Given the description of an element on the screen output the (x, y) to click on. 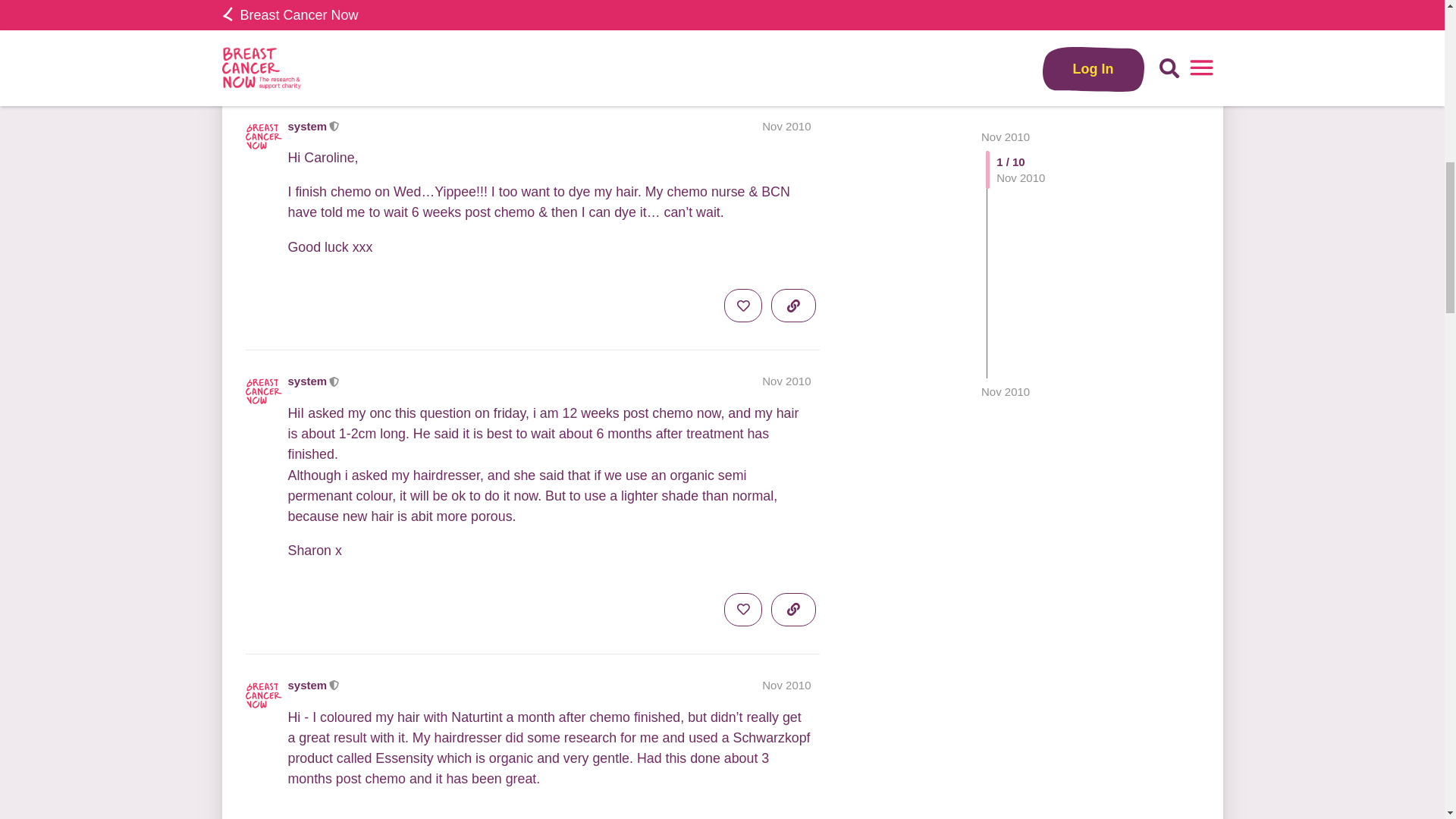
expand topic details (793, 56)
Nov 2010 (785, 380)
copy a link to this post to clipboard (793, 3)
Nov 2010 (785, 125)
Nov 2010 (785, 684)
like this post (742, 3)
system (389, 65)
system (562, 56)
system (307, 125)
Nov 2010 (1005, 20)
last reply (416, 45)
16 Nov 2010 20:51 (1005, 20)
system (307, 684)
15 Nov 2010 21:15 (341, 62)
system (307, 381)
